Given the description of an element on the screen output the (x, y) to click on. 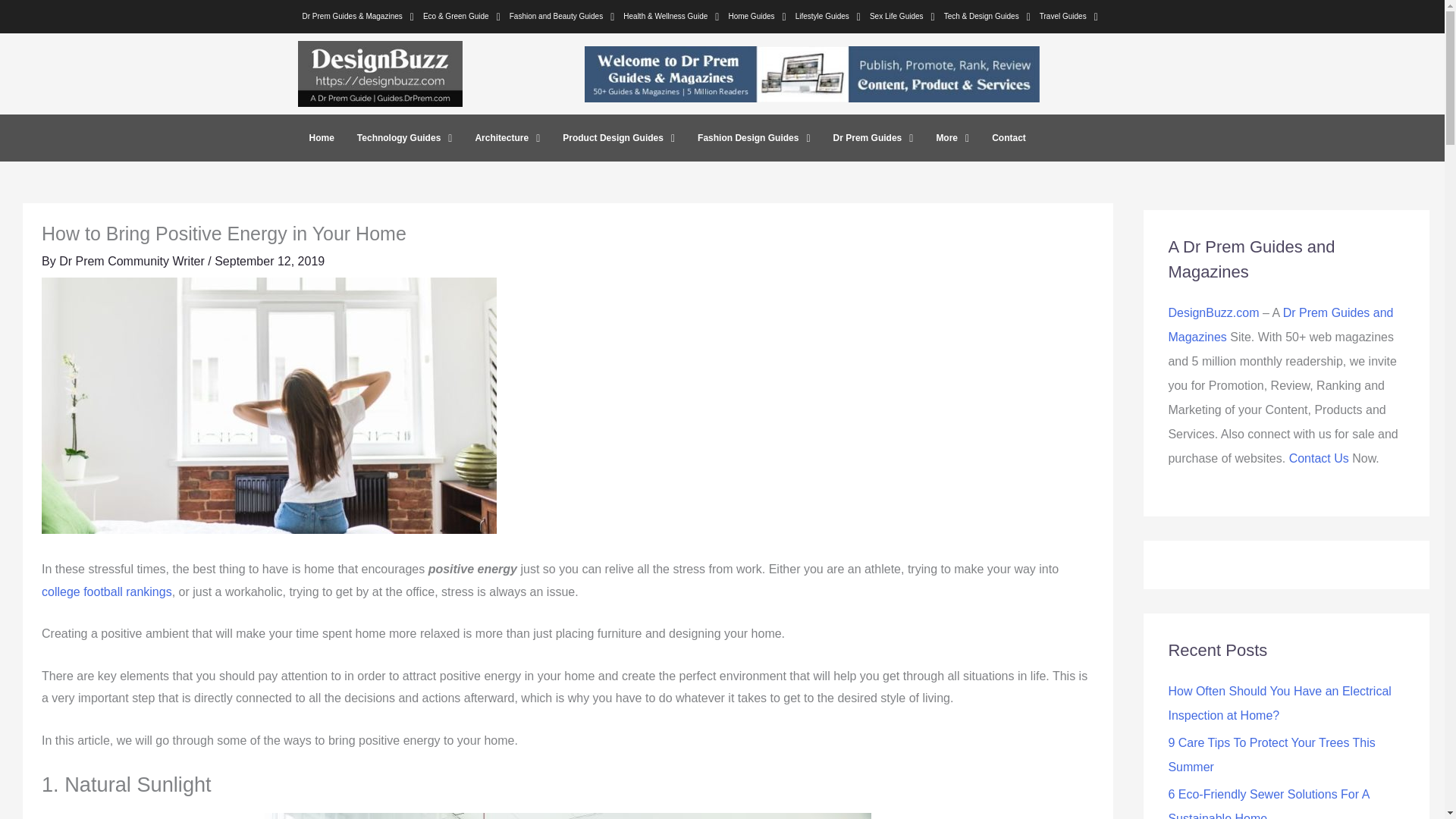
Lifestyle Guides (827, 16)
Fashion and Beauty Guides (562, 16)
Home Guides (756, 16)
View all posts by Dr Prem Community Writer (133, 260)
